Given the description of an element on the screen output the (x, y) to click on. 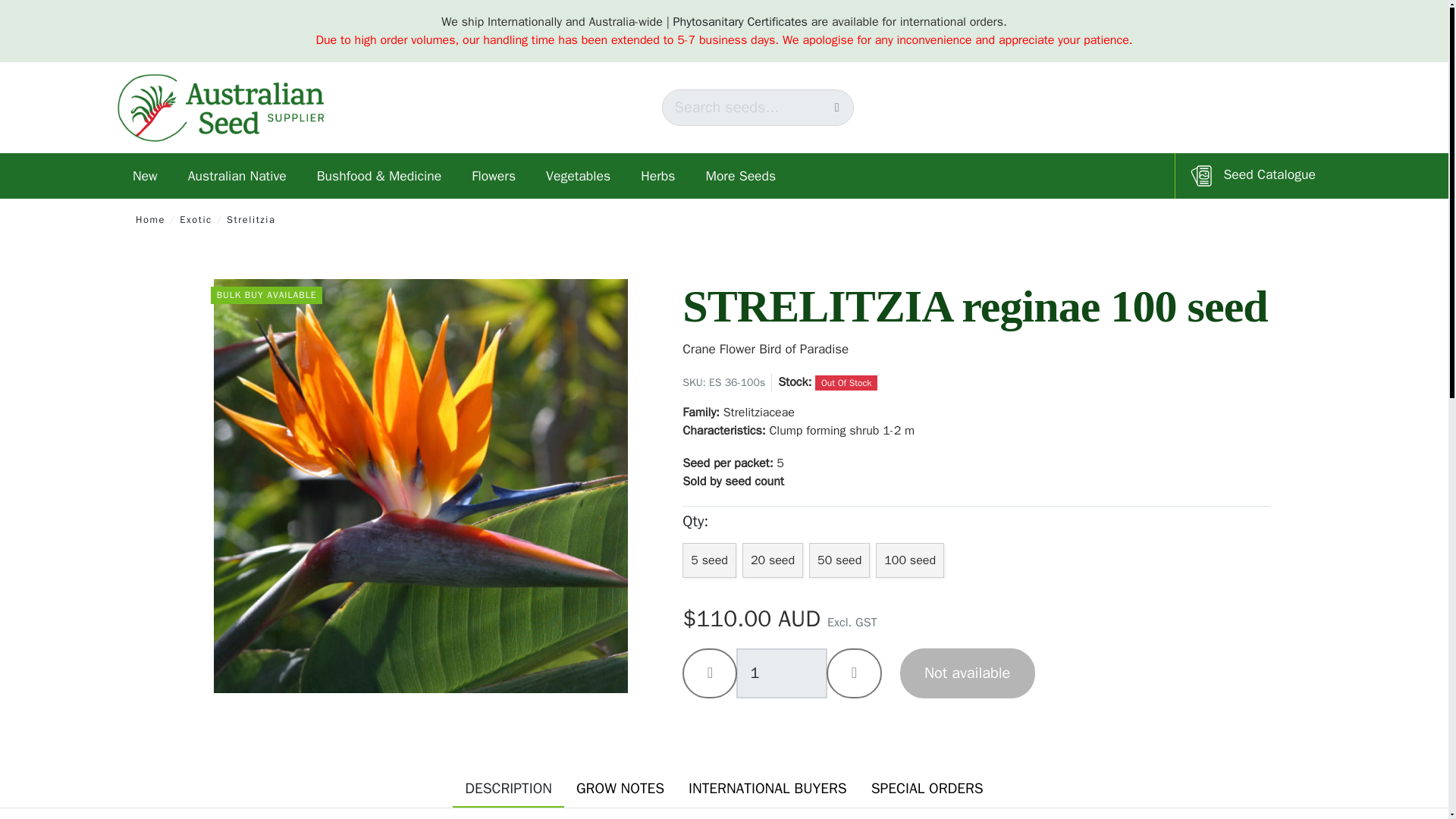
New (145, 176)
1 (781, 673)
Australian Native (237, 176)
Phytosanitary Certificates (740, 21)
